Given the description of an element on the screen output the (x, y) to click on. 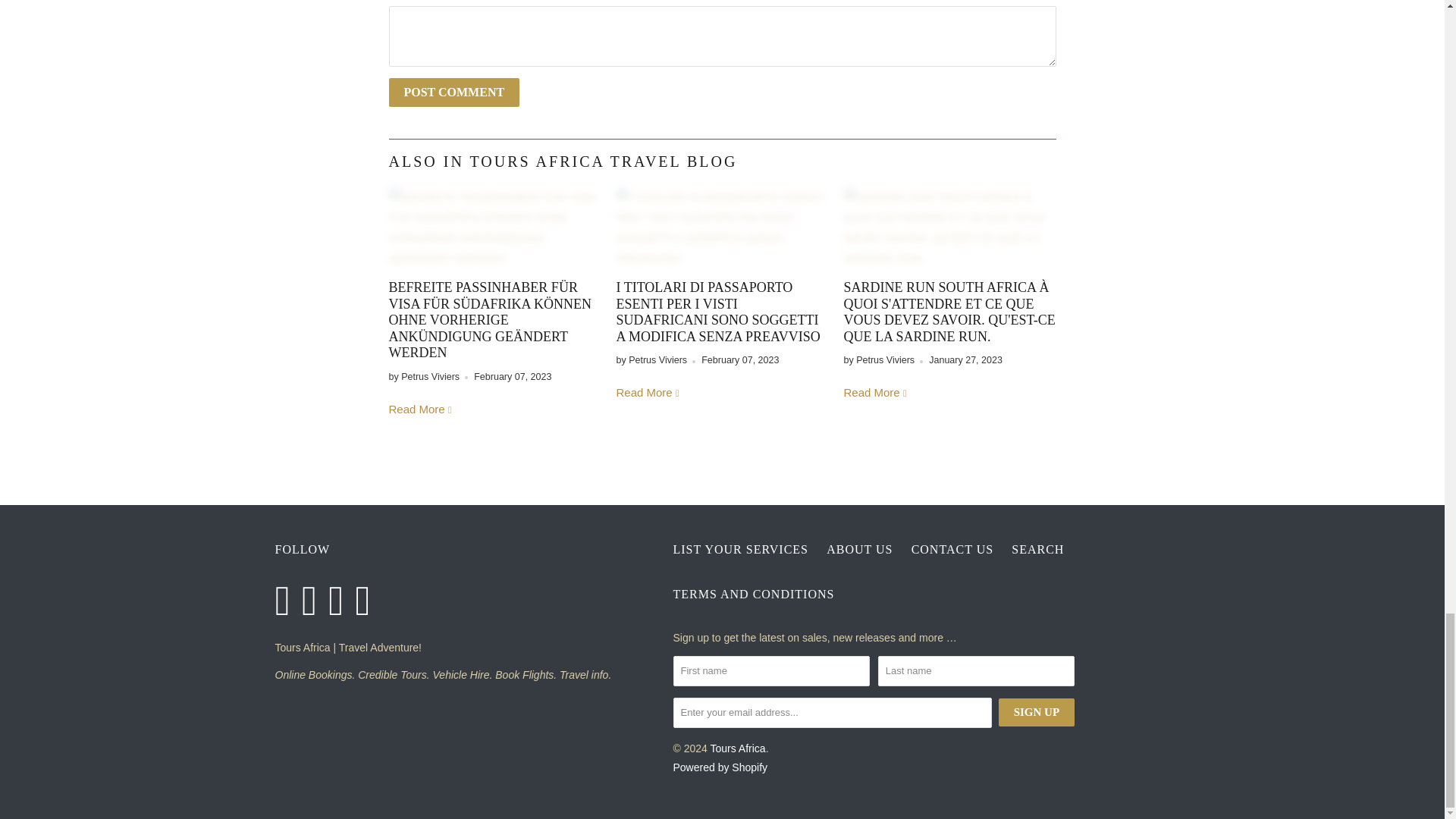
Post comment (453, 92)
Sign Up (1036, 712)
